Given the description of an element on the screen output the (x, y) to click on. 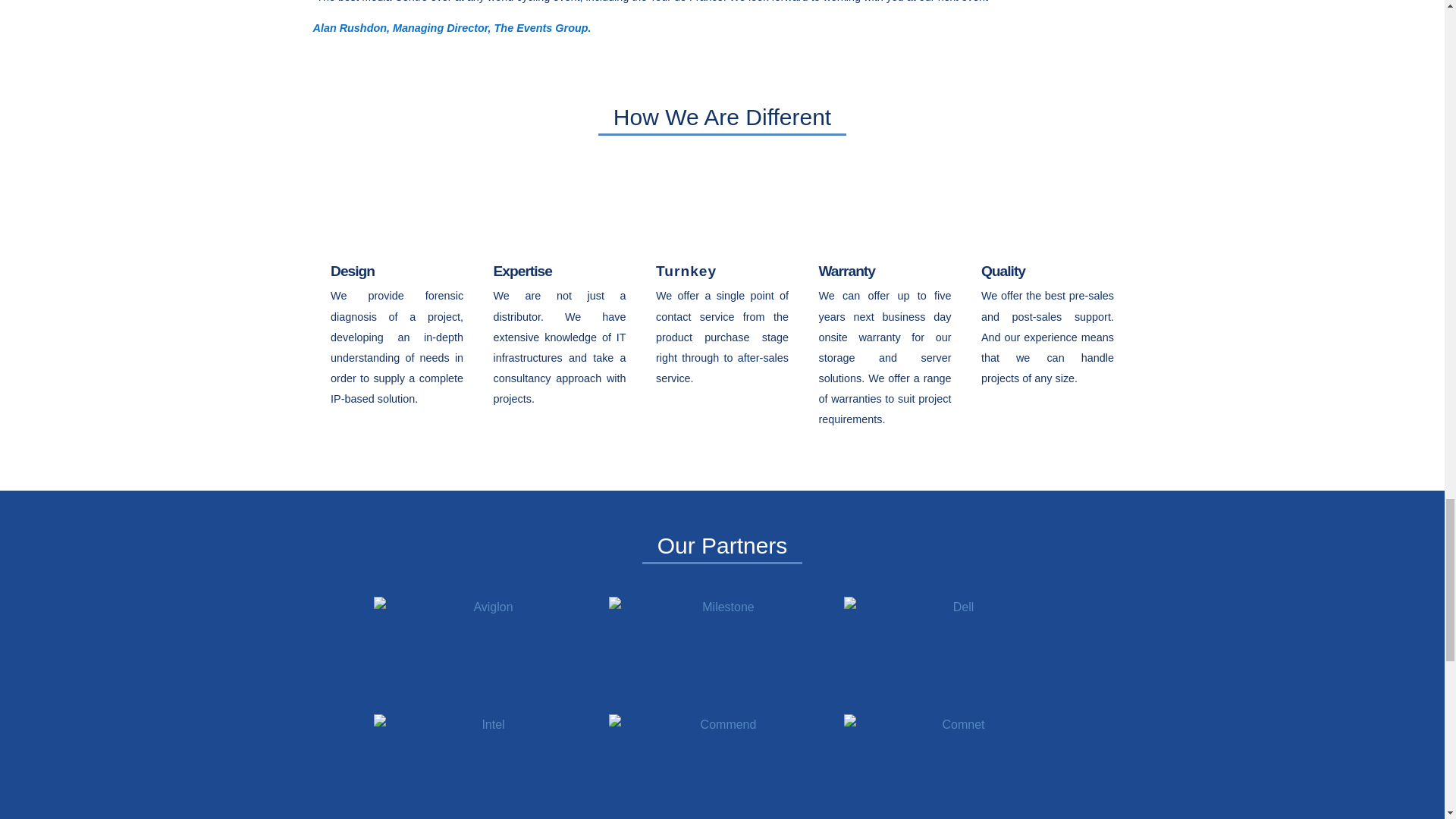
Aviglon (485, 653)
Comnet (956, 766)
Commend (721, 766)
Intel (485, 766)
Milestone (721, 653)
Dell (956, 653)
